Given the description of an element on the screen output the (x, y) to click on. 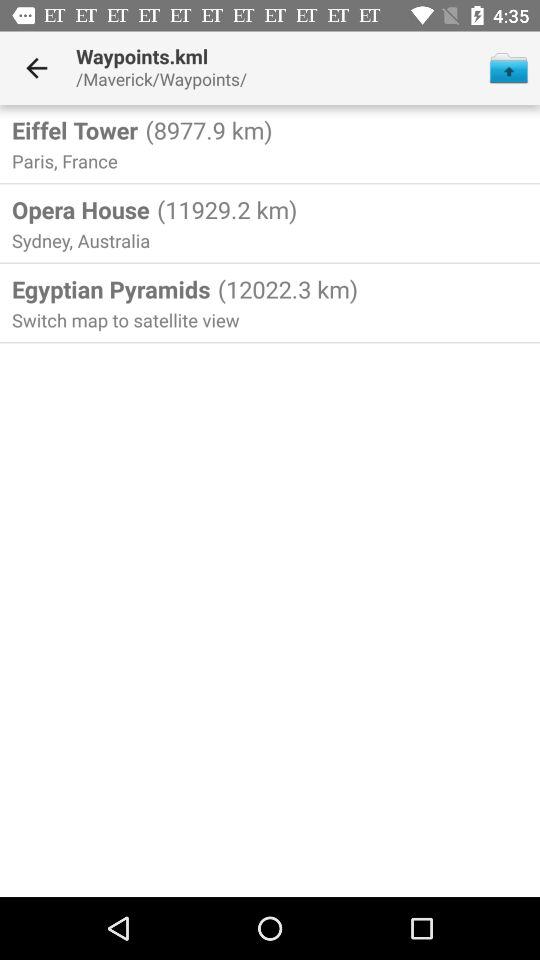
choose the icon below the  (11929.2 km) (284, 289)
